Given the description of an element on the screen output the (x, y) to click on. 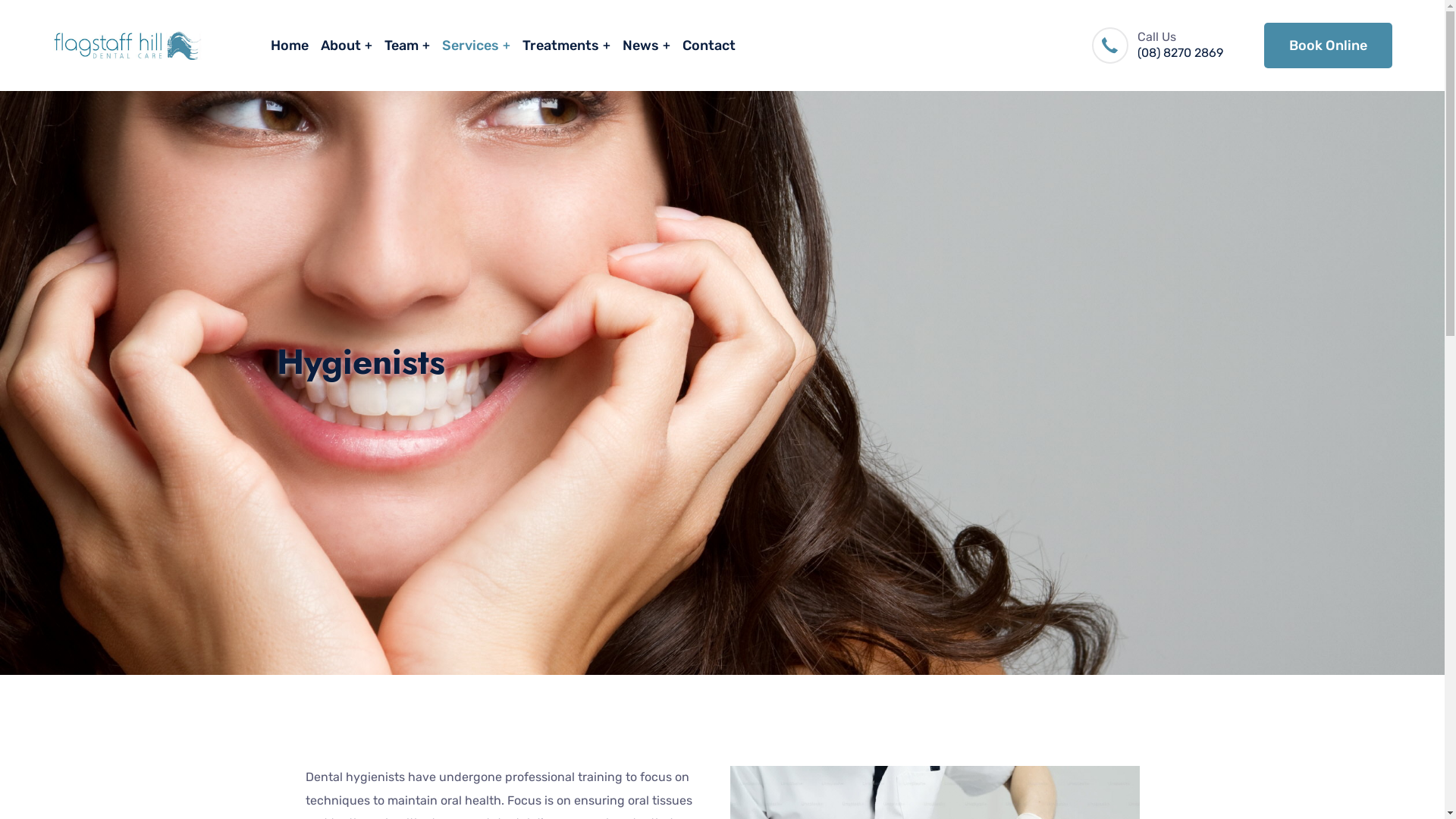
Book Online Element type: text (1327, 45)
Home Element type: text (288, 45)
Flagstaff Hill Dental Care, Adelaide Element type: hover (127, 45)
News Element type: text (645, 45)
Treatments Element type: text (565, 45)
Team Element type: text (406, 45)
About Element type: text (345, 45)
Contact Element type: text (708, 45)
(08) 8270 2869 Element type: text (1180, 53)
Services Element type: text (475, 45)
